Given the description of an element on the screen output the (x, y) to click on. 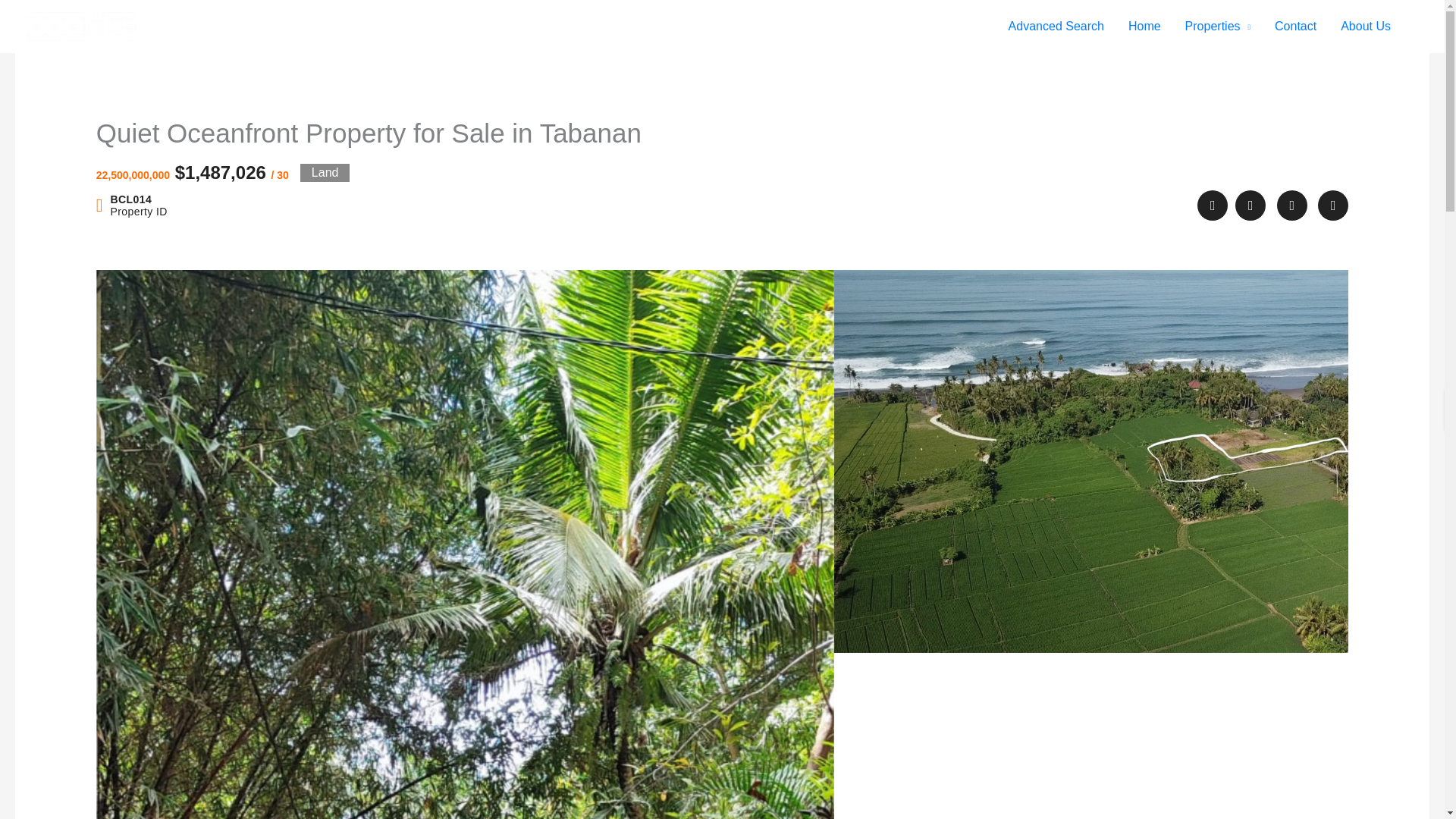
Home (1144, 26)
Contact (1294, 26)
Properties (1217, 26)
About Us (1365, 26)
Advanced Search (1055, 26)
